Given the description of an element on the screen output the (x, y) to click on. 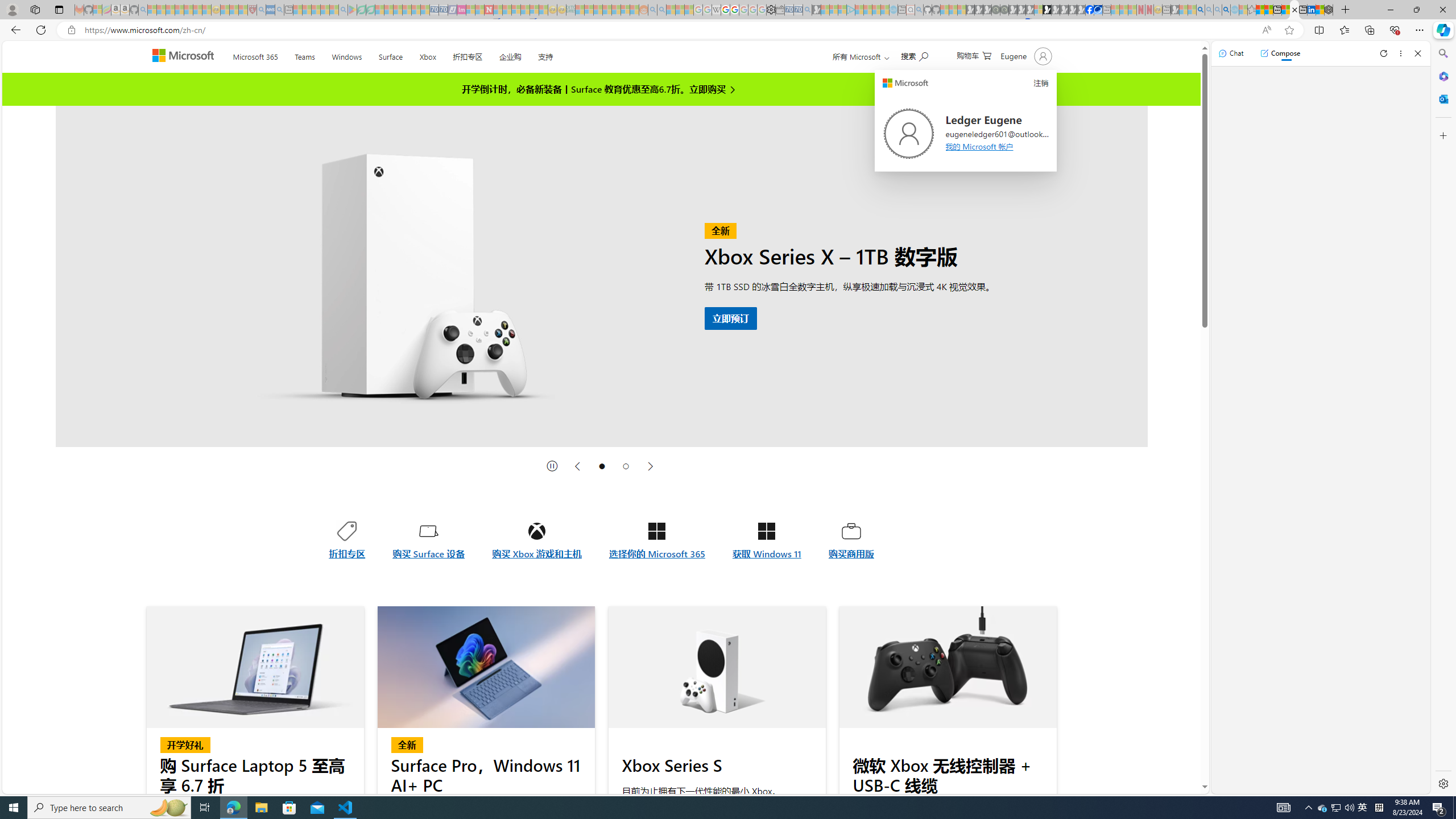
Microsoft Start - Sleeping (876, 9)
google - Search - Sleeping (342, 9)
Settings (770, 9)
Nordace | Facebook (1089, 9)
Chat (1230, 52)
Expert Portfolios - Sleeping (606, 9)
Browser essentials (1394, 29)
Microsoft Start Gaming - Sleeping (815, 9)
Microsoft 365 (255, 54)
